Given the description of an element on the screen output the (x, y) to click on. 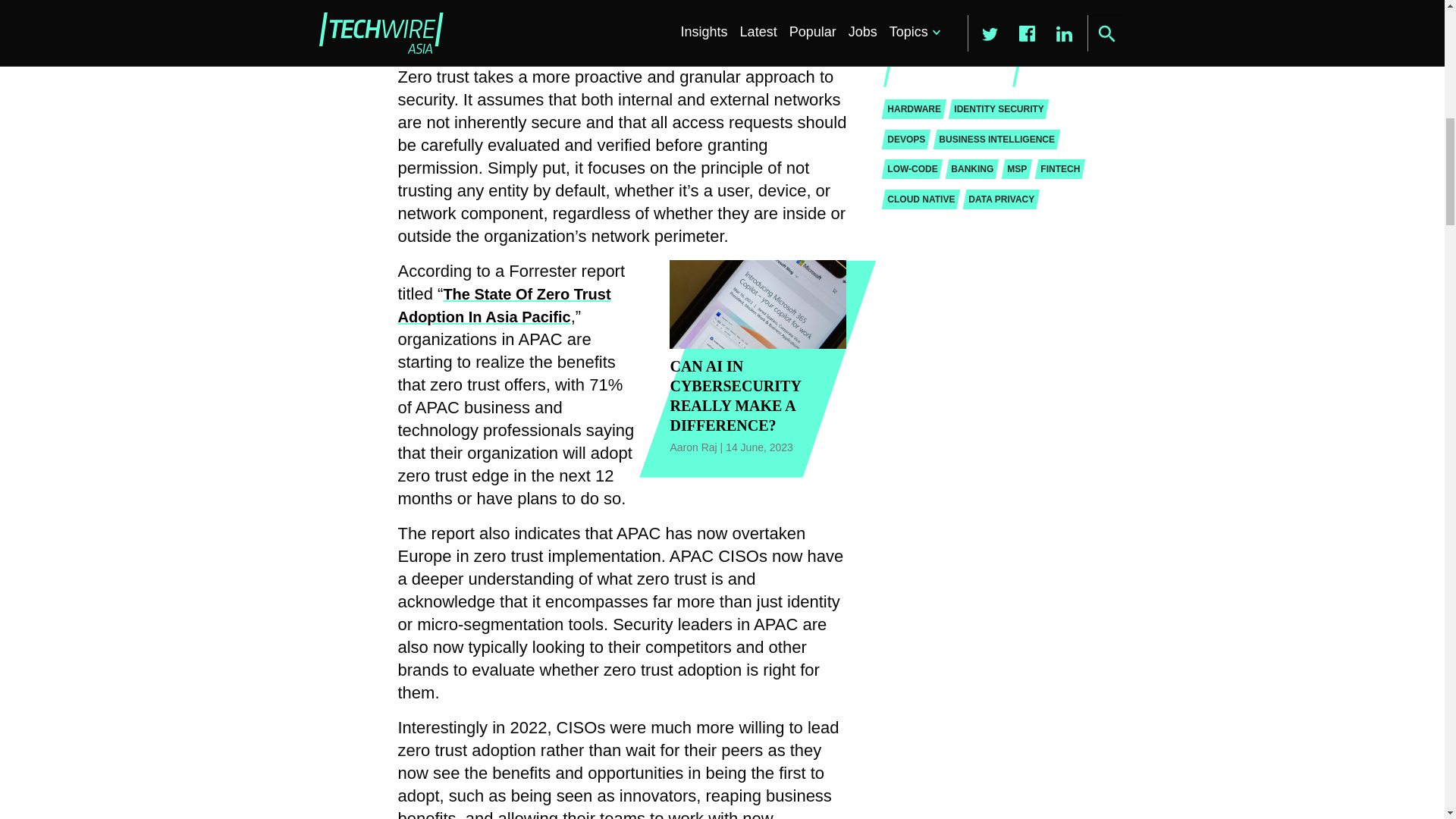
3rd party ad content (988, 22)
